Given the description of an element on the screen output the (x, y) to click on. 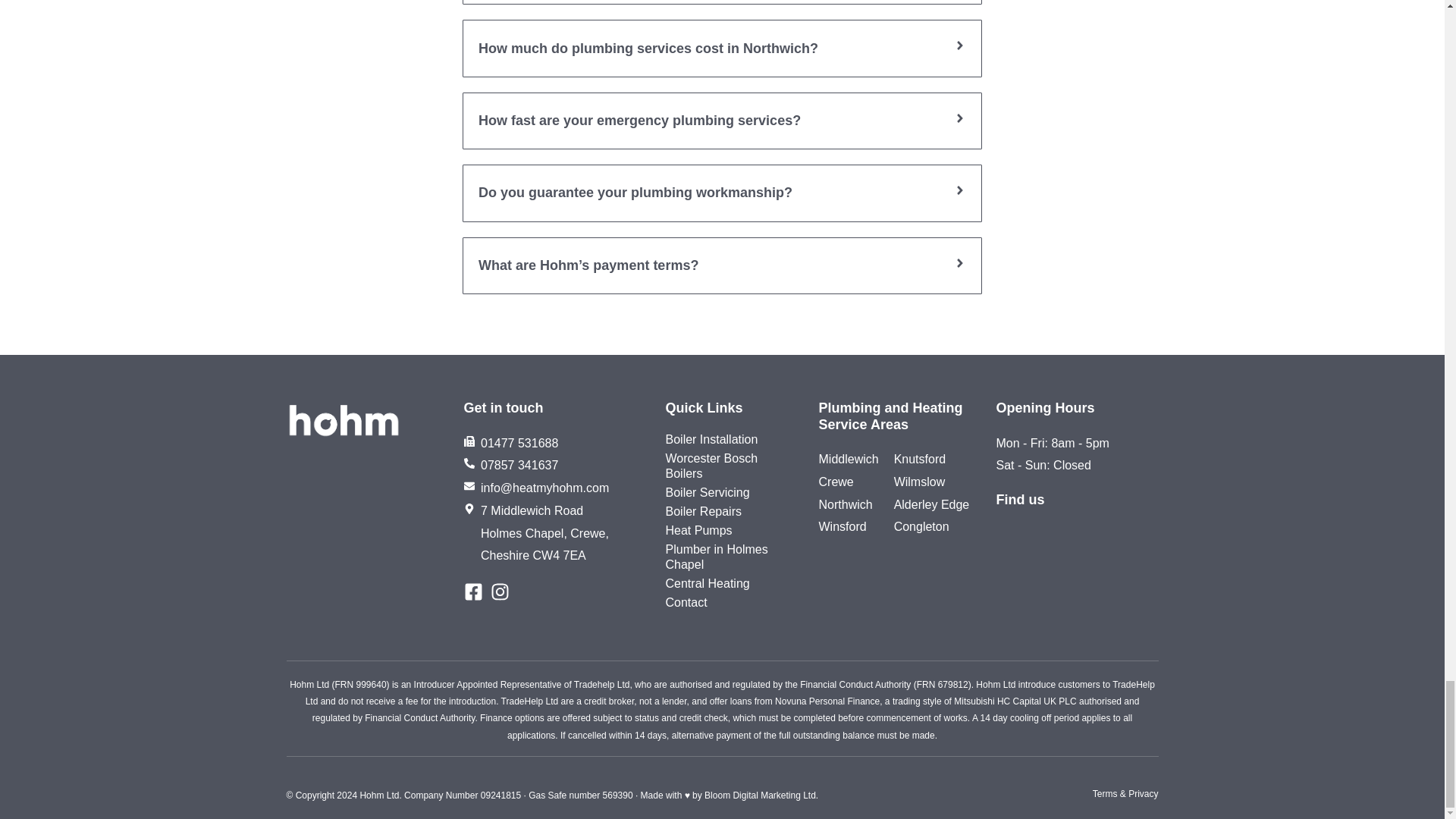
7 Middlewich Road Holmes Chapel, Crewe, Cheshire CW4 7EA (1076, 576)
